Given the description of an element on the screen output the (x, y) to click on. 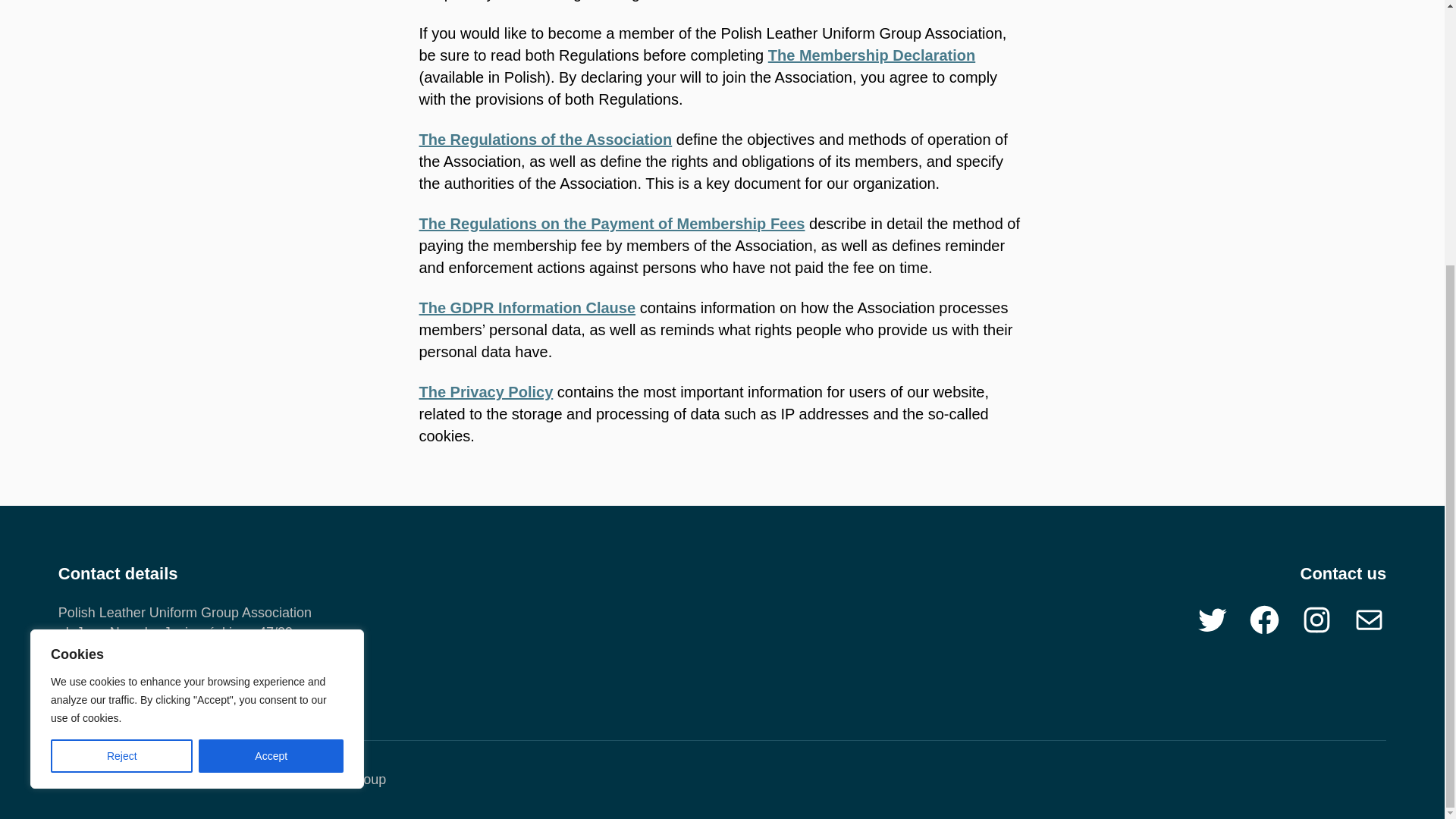
The GDPR Information Clause (526, 307)
The Regulations of the Association (545, 139)
The Privacy Policy (486, 392)
Regulamin Stowarzyszenia (545, 139)
Twitter (1211, 619)
The Regulations on the Payment of Membership Fees (612, 223)
Instagram (1316, 619)
Mail (1369, 619)
Facebook (1264, 619)
Become a member (871, 54)
